Given the description of an element on the screen output the (x, y) to click on. 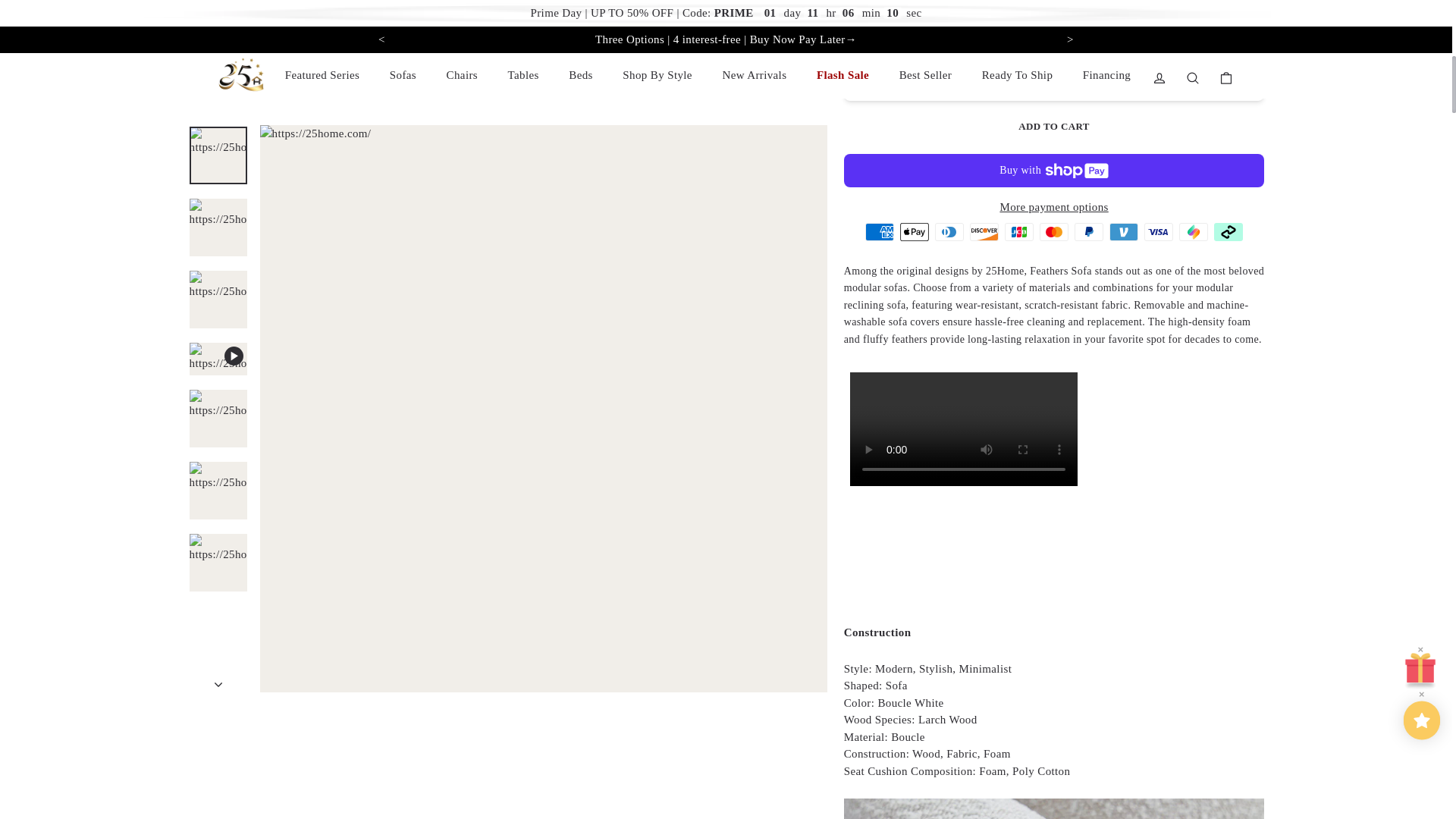
1926BW (1054, 485)
